Given the description of an element on the screen output the (x, y) to click on. 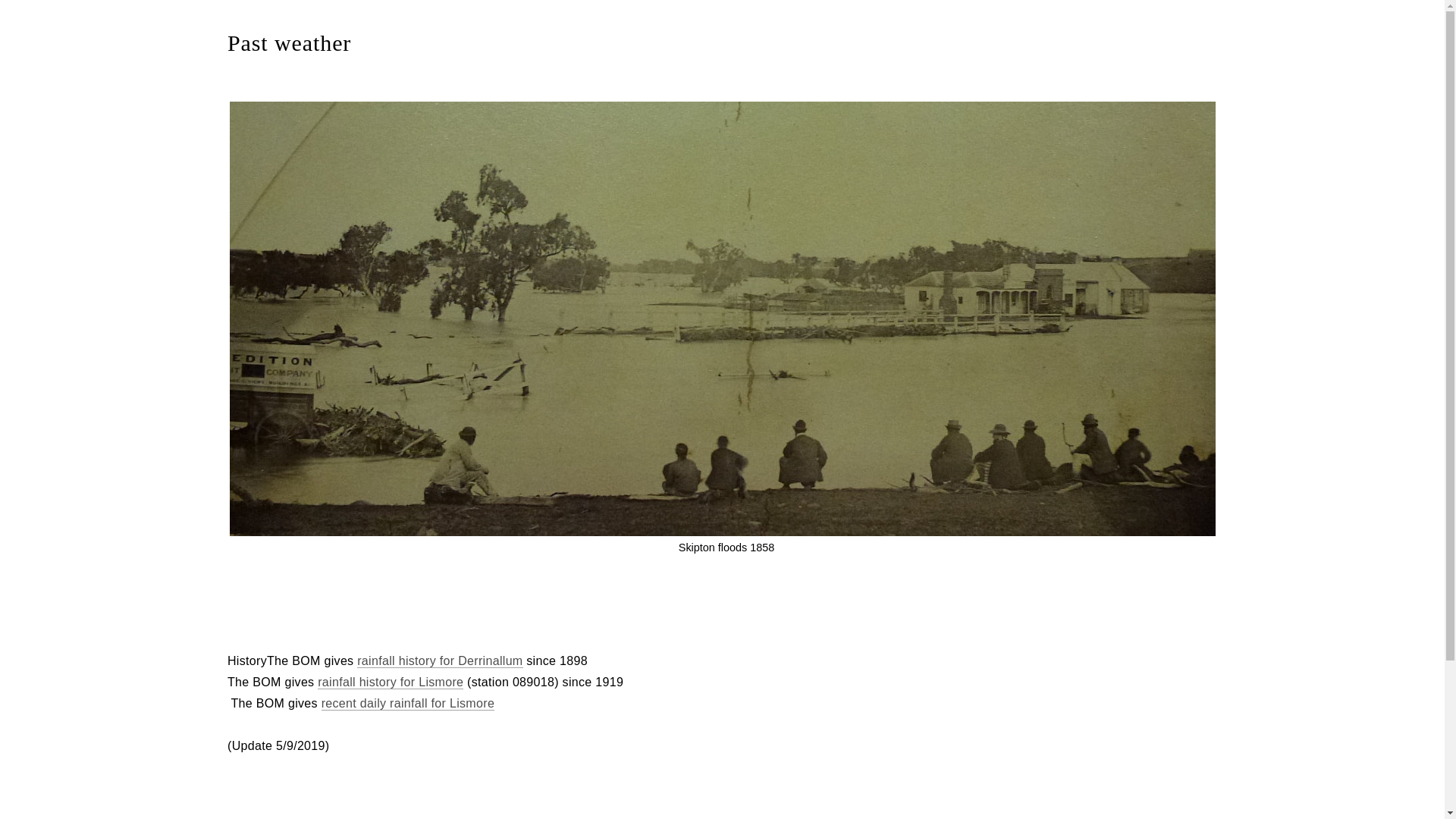
rainfall history for Lismore Element type: text (390, 682)
recent daily rainfall for Lismore Element type: text (407, 703)
rainfall history for Derrinallum Element type: text (439, 661)
